Given the description of an element on the screen output the (x, y) to click on. 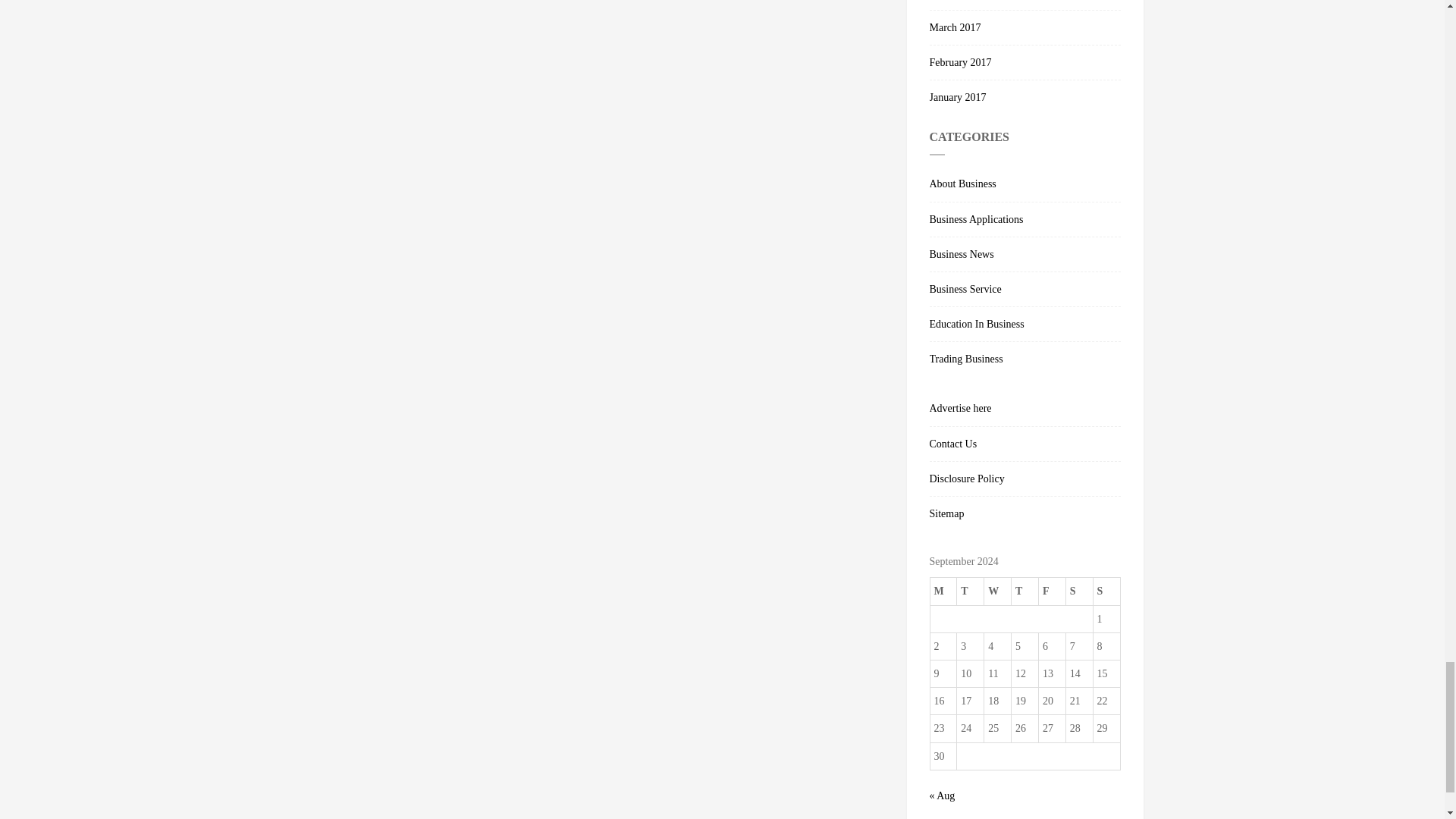
Saturday (1079, 591)
Wednesday (997, 591)
Monday (943, 591)
Sunday (1106, 591)
Tuesday (970, 591)
Thursday (1025, 591)
Friday (1051, 591)
